Given the description of an element on the screen output the (x, y) to click on. 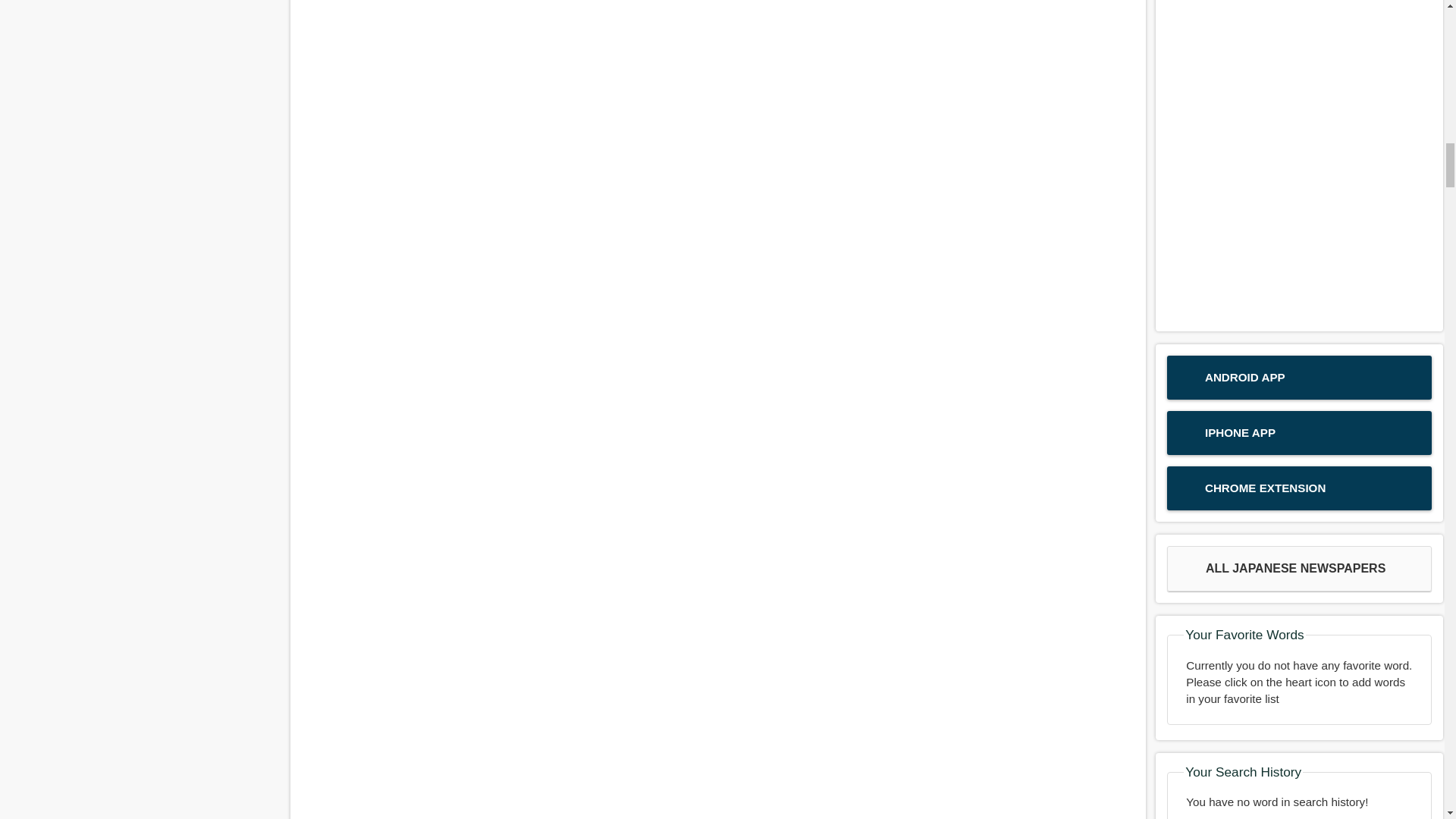
Learn Prepositions by Photos (717, 534)
